Given the description of an element on the screen output the (x, y) to click on. 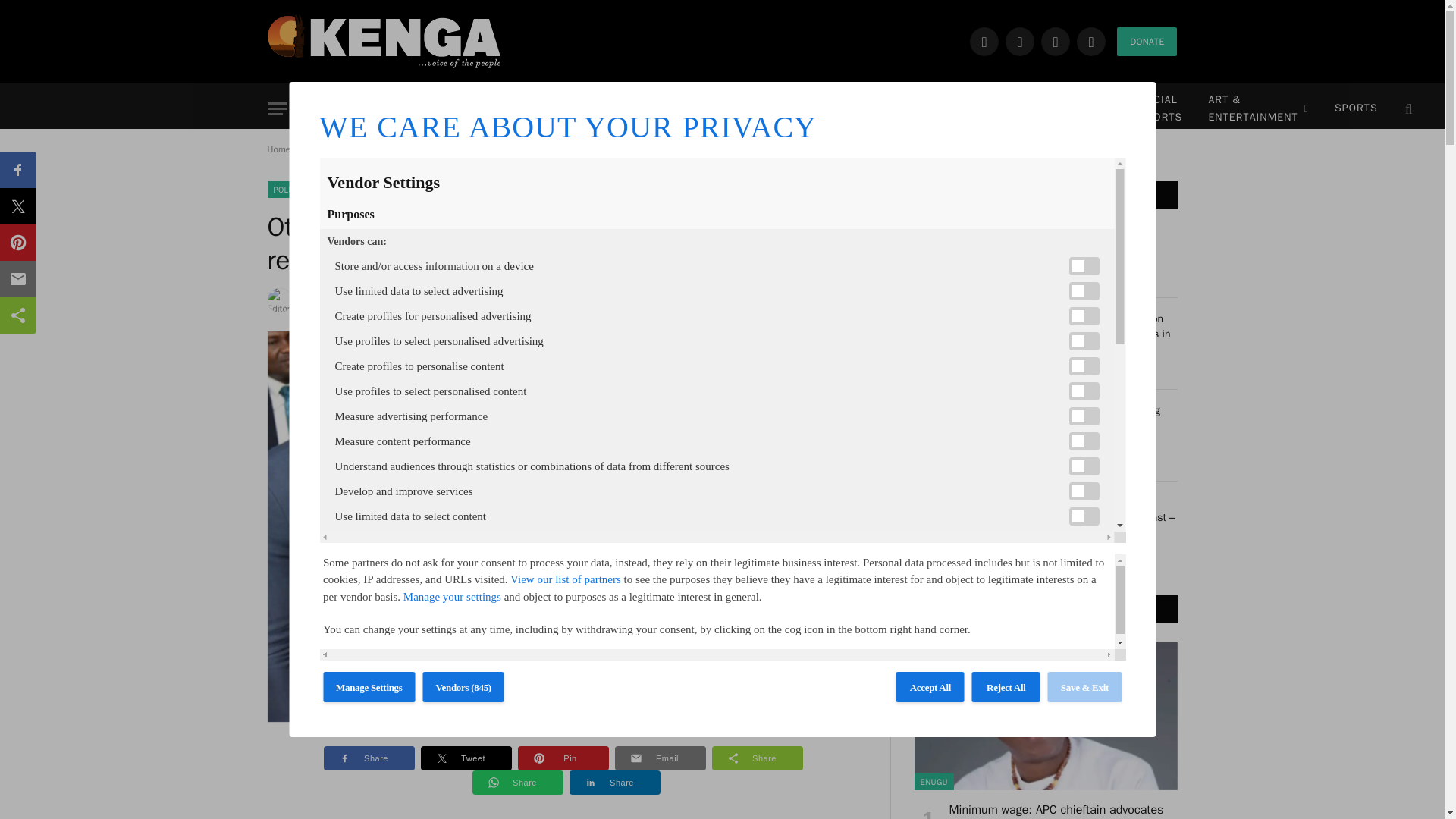
Facebook (983, 41)
NEWS (412, 108)
Ikenga Online (383, 41)
YouTube (1091, 41)
Twitter (1019, 41)
HOME (342, 108)
DONATE (1146, 41)
Instagram (1055, 41)
